Given the description of an element on the screen output the (x, y) to click on. 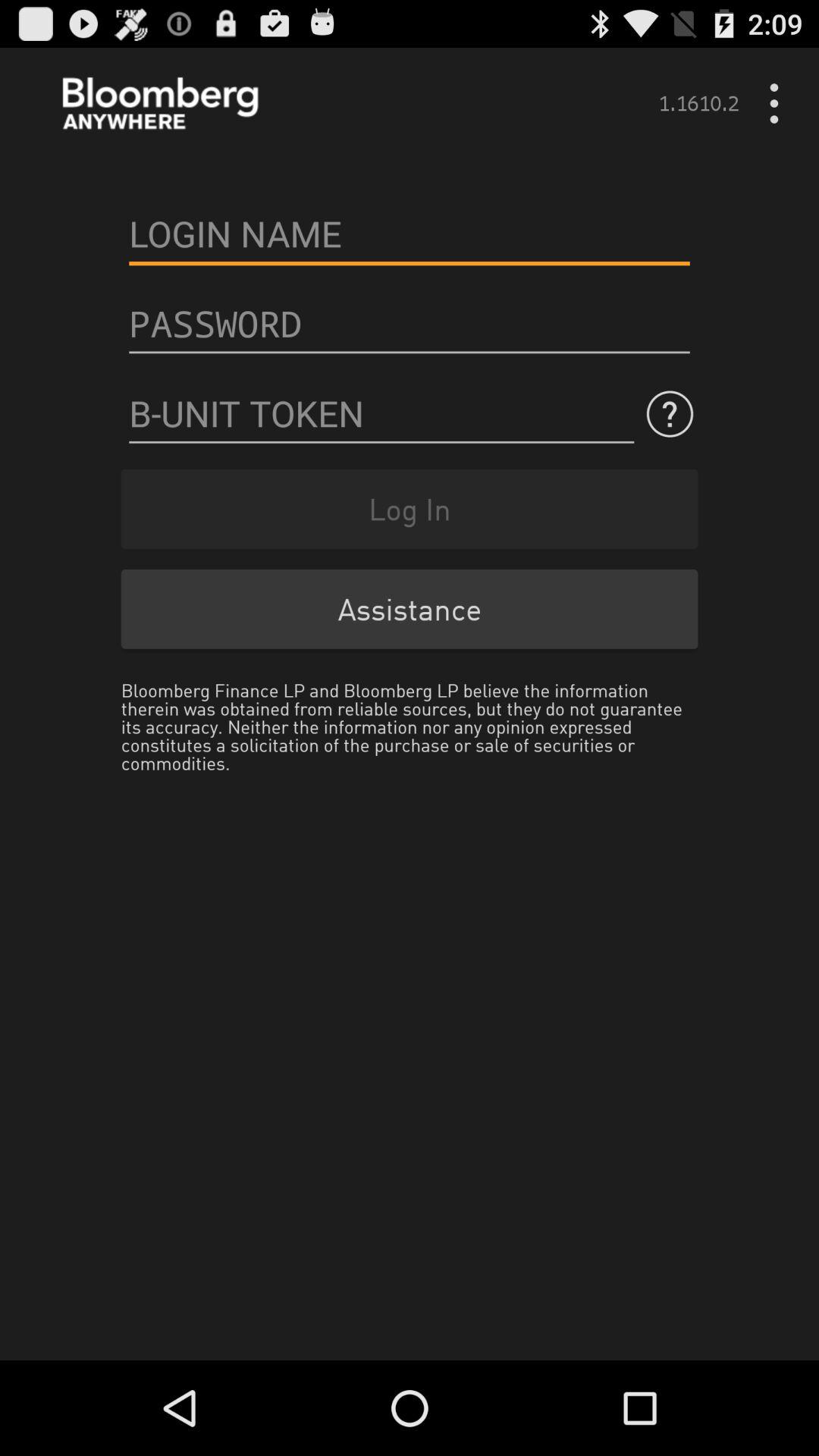
jump to the assistance (409, 608)
